Given the description of an element on the screen output the (x, y) to click on. 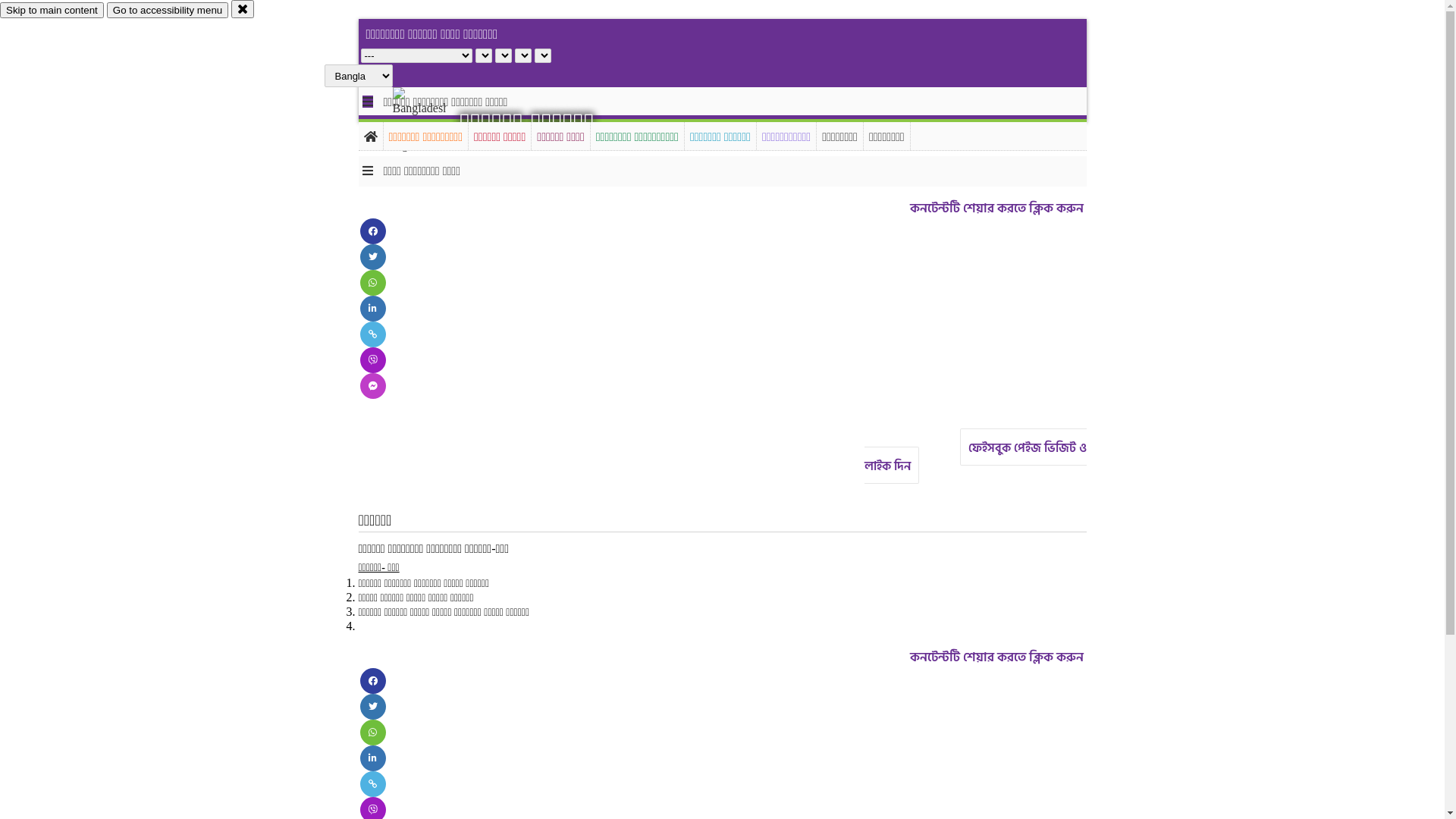
Skip to main content Element type: text (51, 10)
close Element type: hover (242, 9)

                
             Element type: hover (431, 120)
Go to accessibility menu Element type: text (167, 10)
